Given the description of an element on the screen output the (x, y) to click on. 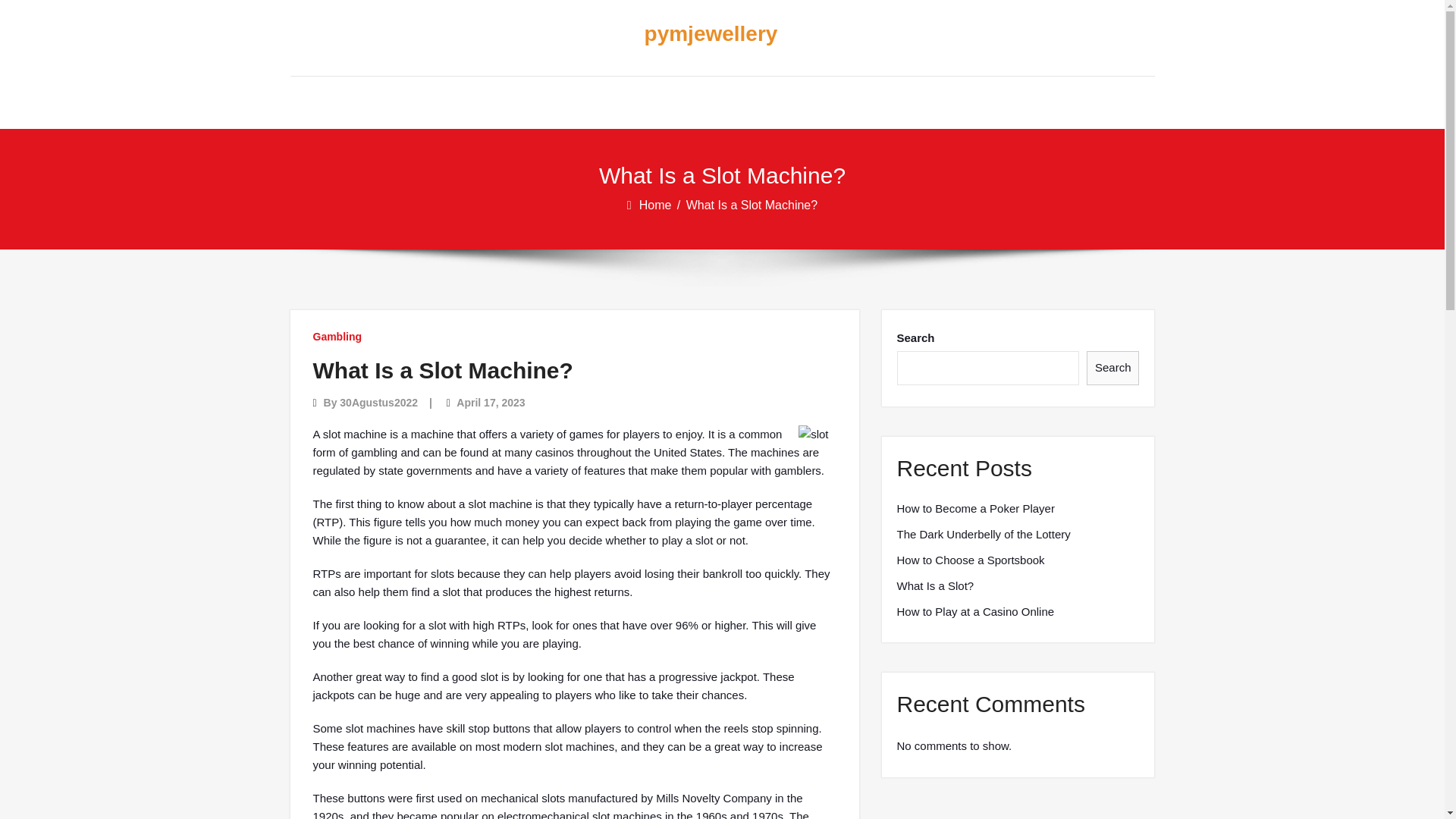
Search (1113, 367)
April 17, 2023 (490, 402)
pymjewellery (710, 34)
What Is a Slot? (935, 586)
Home (656, 205)
The Dark Underbelly of the Lottery (983, 534)
How to Choose a Sportsbook (969, 560)
Gambling (337, 336)
How to Become a Poker Player (975, 508)
How to Play at a Casino Online (975, 611)
